Given the description of an element on the screen output the (x, y) to click on. 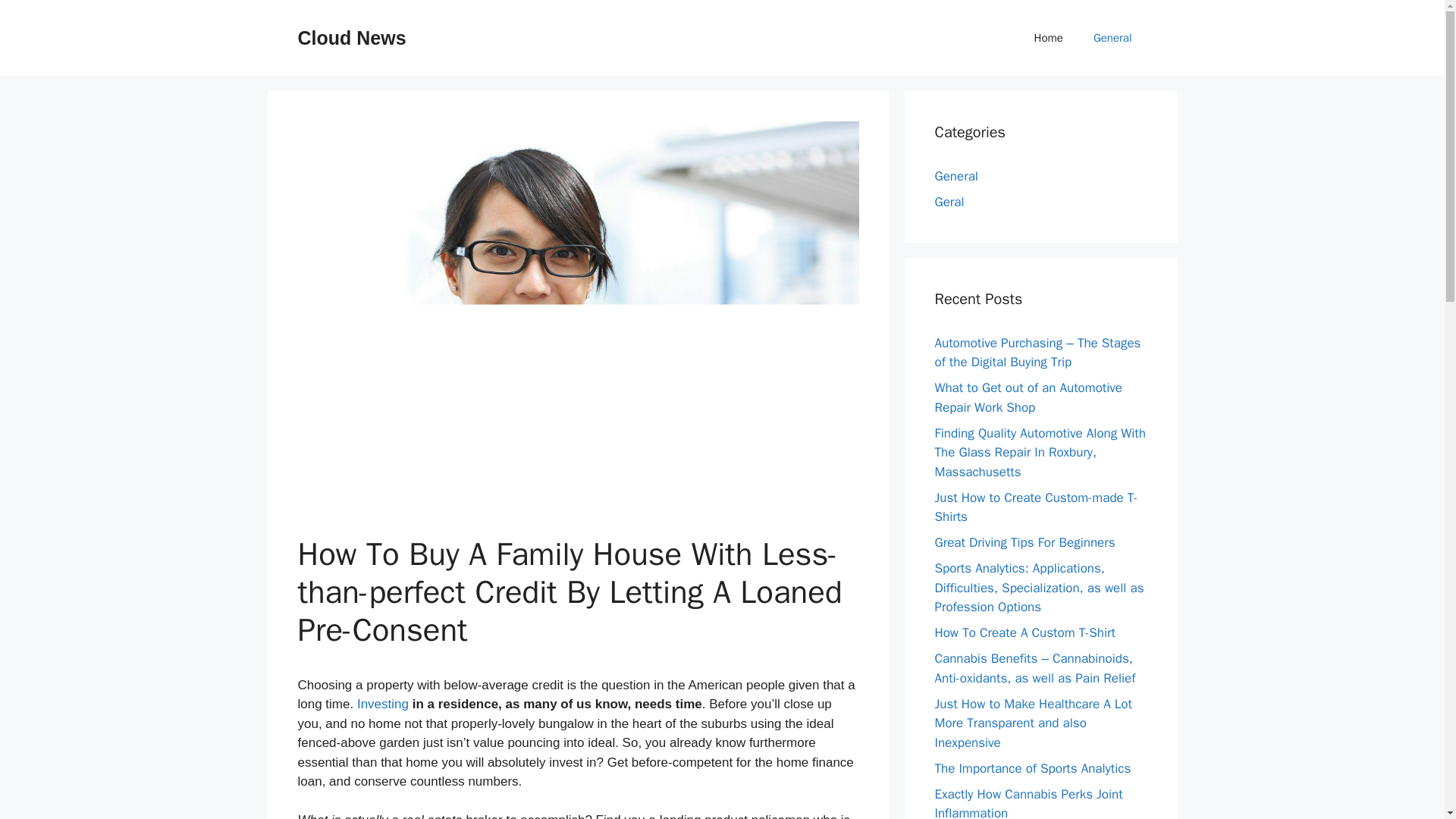
Exactly How Cannabis Perks Joint Inflammation (1028, 802)
The Importance of Sports Analytics (1032, 767)
General (1112, 37)
Great Driving Tips For Beginners (1024, 542)
Cloud News (351, 37)
Investing (382, 703)
General (955, 176)
Home (1048, 37)
Geral (948, 201)
Just How to Create Custom-made T-Shirts (1035, 507)
How To Create A Custom T-Shirt (1024, 632)
What to Get out of an Automotive Repair Work Shop (1028, 397)
